Given the description of an element on the screen output the (x, y) to click on. 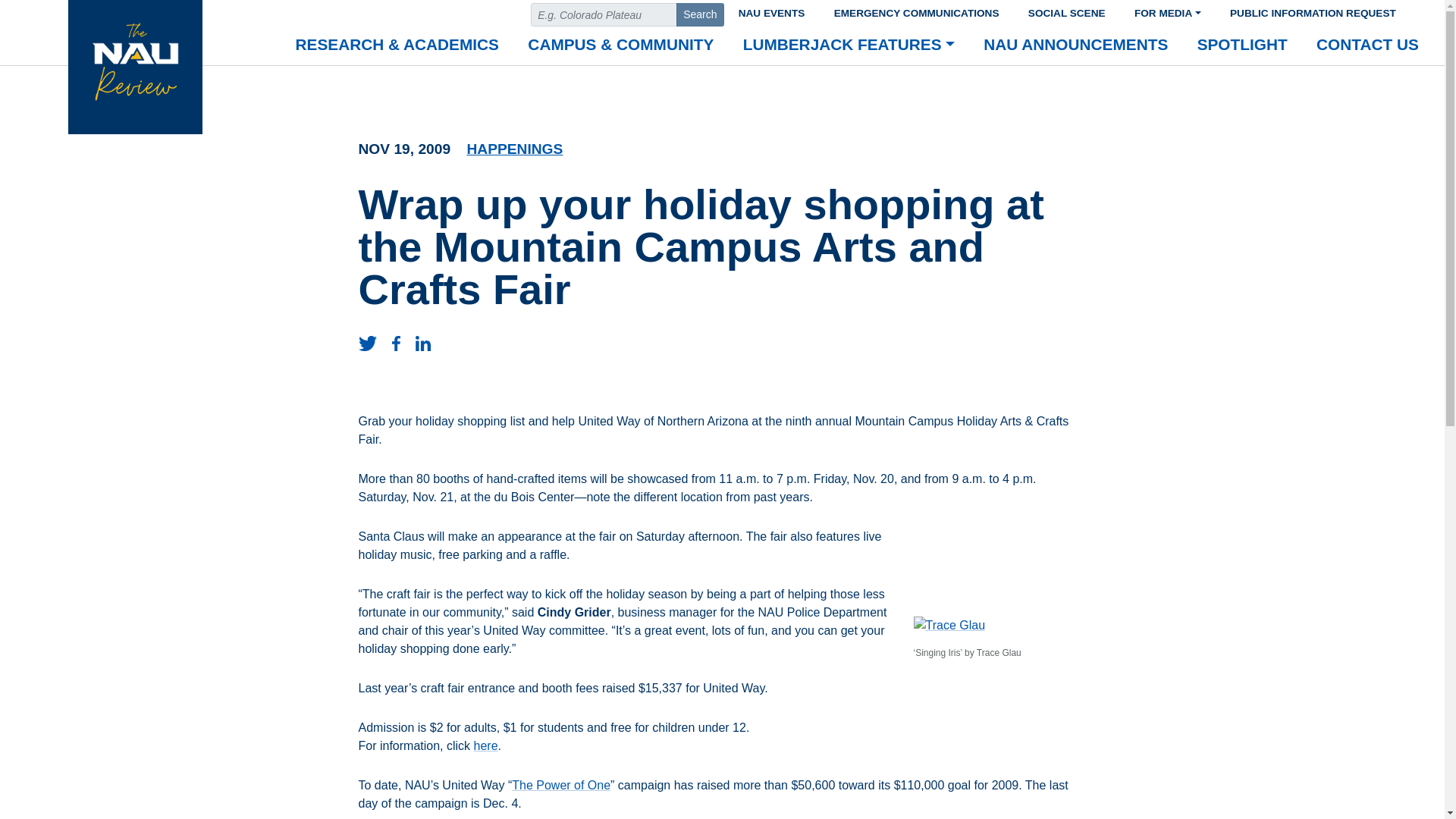
For Media (1167, 10)
Social Scene (1066, 10)
EMERGENCY COMMUNICATIONS (915, 10)
The Power of One (561, 784)
Lumberjack Features (848, 45)
FOR MEDIA (1167, 10)
CONTACT US (1366, 45)
LUMBERJACK FEATURES (848, 45)
Public Information Request (1312, 10)
NAU ANNOUNCEMENTS (1075, 45)
